Given the description of an element on the screen output the (x, y) to click on. 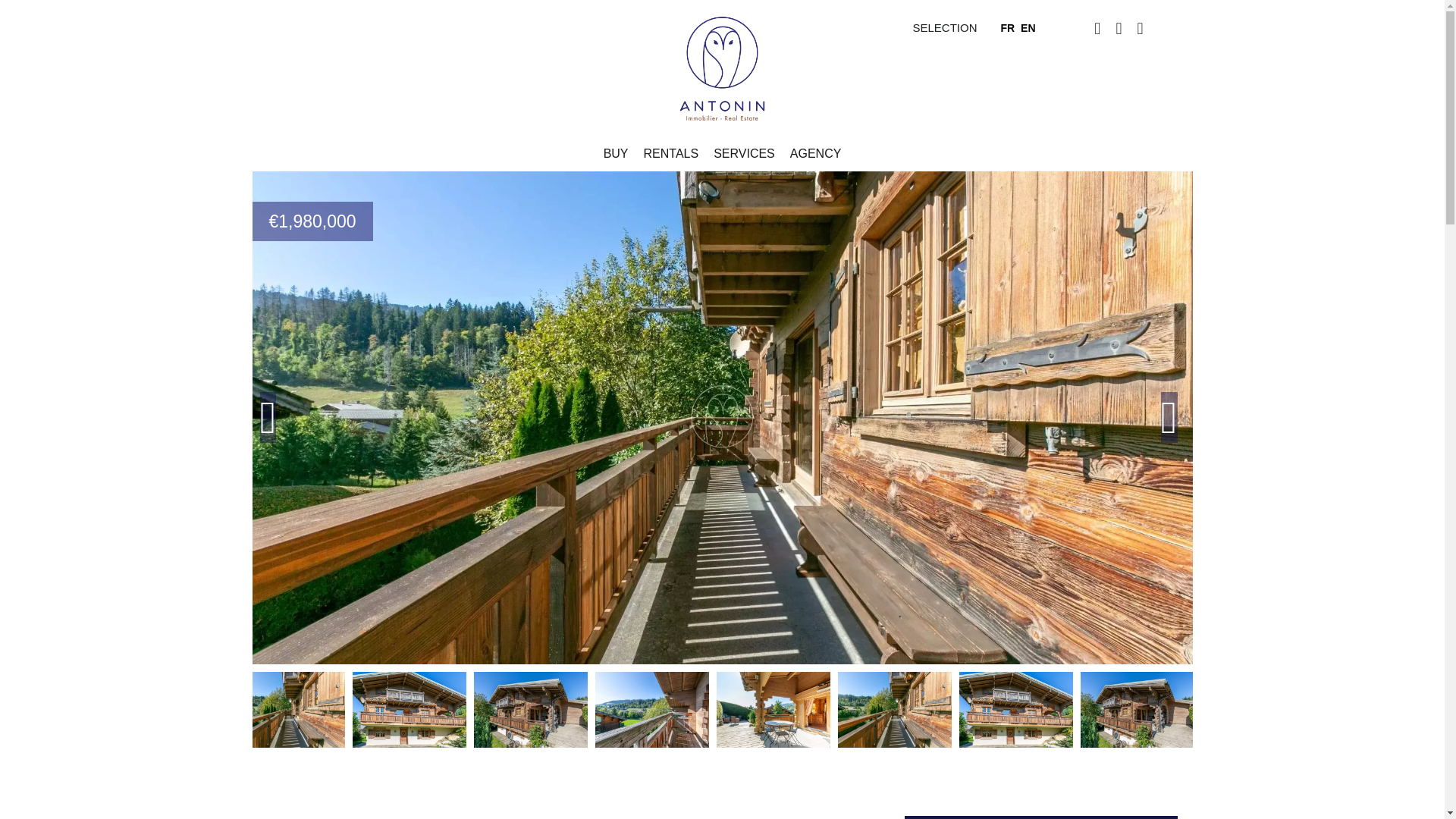
SERVICES (743, 153)
AGENCY (815, 153)
SELECTION (944, 27)
RENTALS (670, 153)
BUY (616, 153)
EN (1027, 27)
FR (1007, 27)
